Given the description of an element on the screen output the (x, y) to click on. 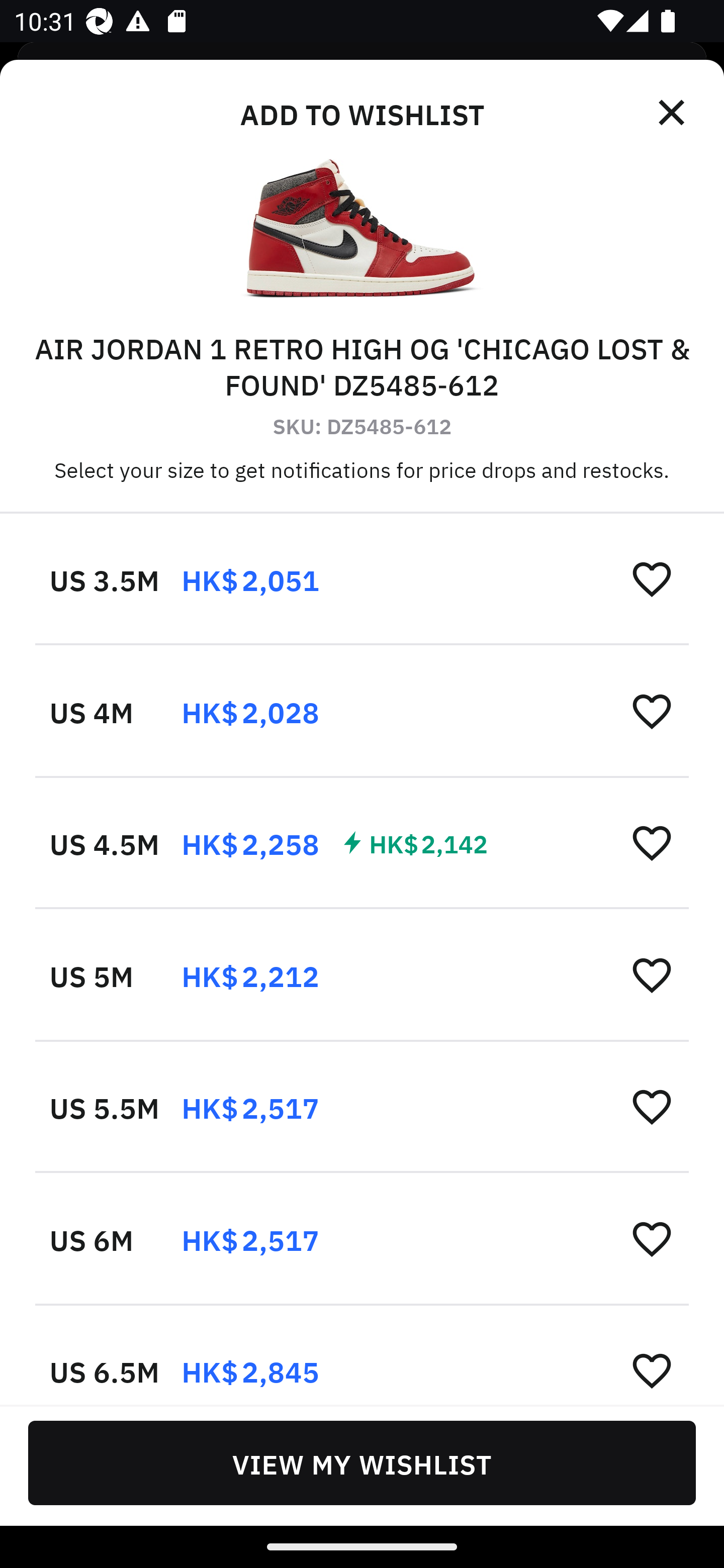
 (672, 112)
󰋕 (651, 578)
󰋕 (651, 710)
󰋕 (651, 842)
󰋕 (651, 974)
󰋕 (651, 1105)
󰋕 (651, 1237)
󰋕 (651, 1369)
VIEW MY WISHLIST (361, 1462)
